Given the description of an element on the screen output the (x, y) to click on. 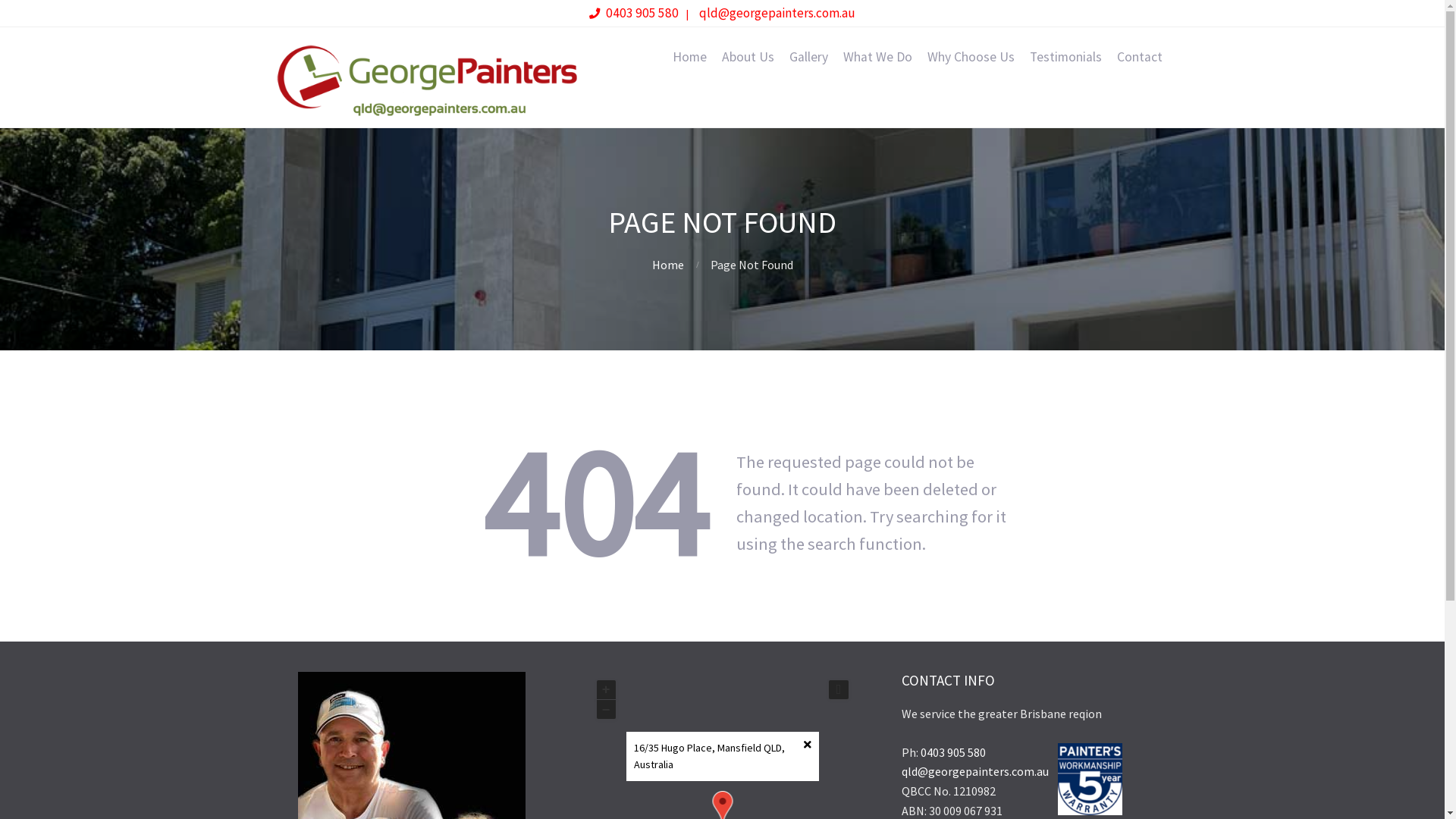
Why Choose Us Element type: text (970, 56)
Testimonials Element type: text (1065, 56)
What We Do Element type: text (877, 56)
Home Element type: text (668, 264)
+ Element type: text (605, 689)
0403 905 580 Element type: text (952, 751)
qld@georgepainters.com.au Element type: text (777, 12)
Gallery Element type: text (807, 56)
Home Element type: text (688, 56)
0403 905 580 Element type: text (641, 12)
Contact Element type: text (1138, 56)
qld@georgepainters.com.au Element type: text (974, 770)
About Us Element type: text (747, 56)
